Given the description of an element on the screen output the (x, y) to click on. 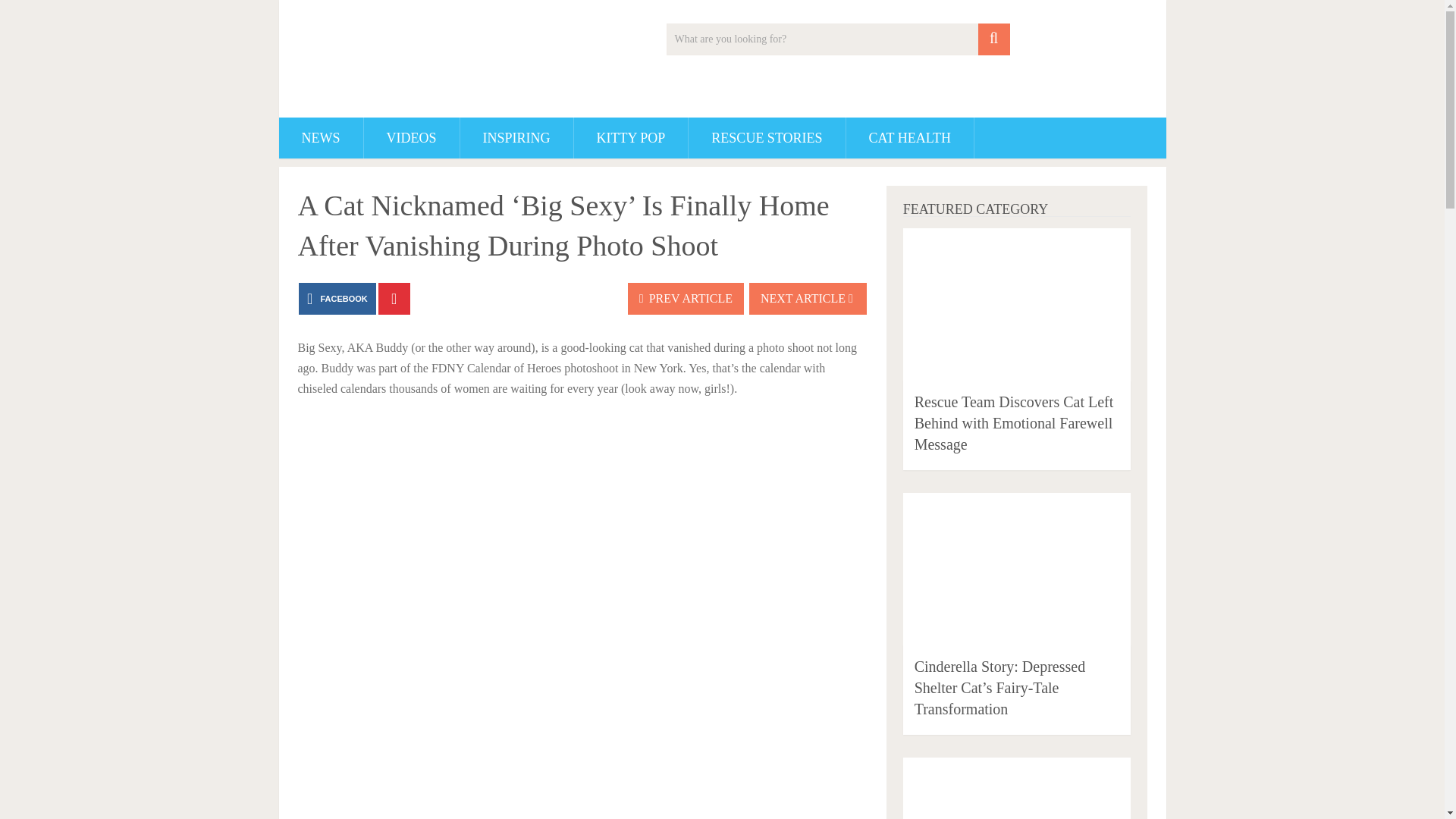
VIDEOS (412, 137)
NEXT ARTICLE (807, 298)
RESCUE STORIES (766, 137)
NEWS (320, 137)
CAT HEALTH (909, 137)
KITTY POP (630, 137)
PREV ARTICLE (685, 298)
INSPIRING (516, 137)
FACEBOOK (336, 298)
